Given the description of an element on the screen output the (x, y) to click on. 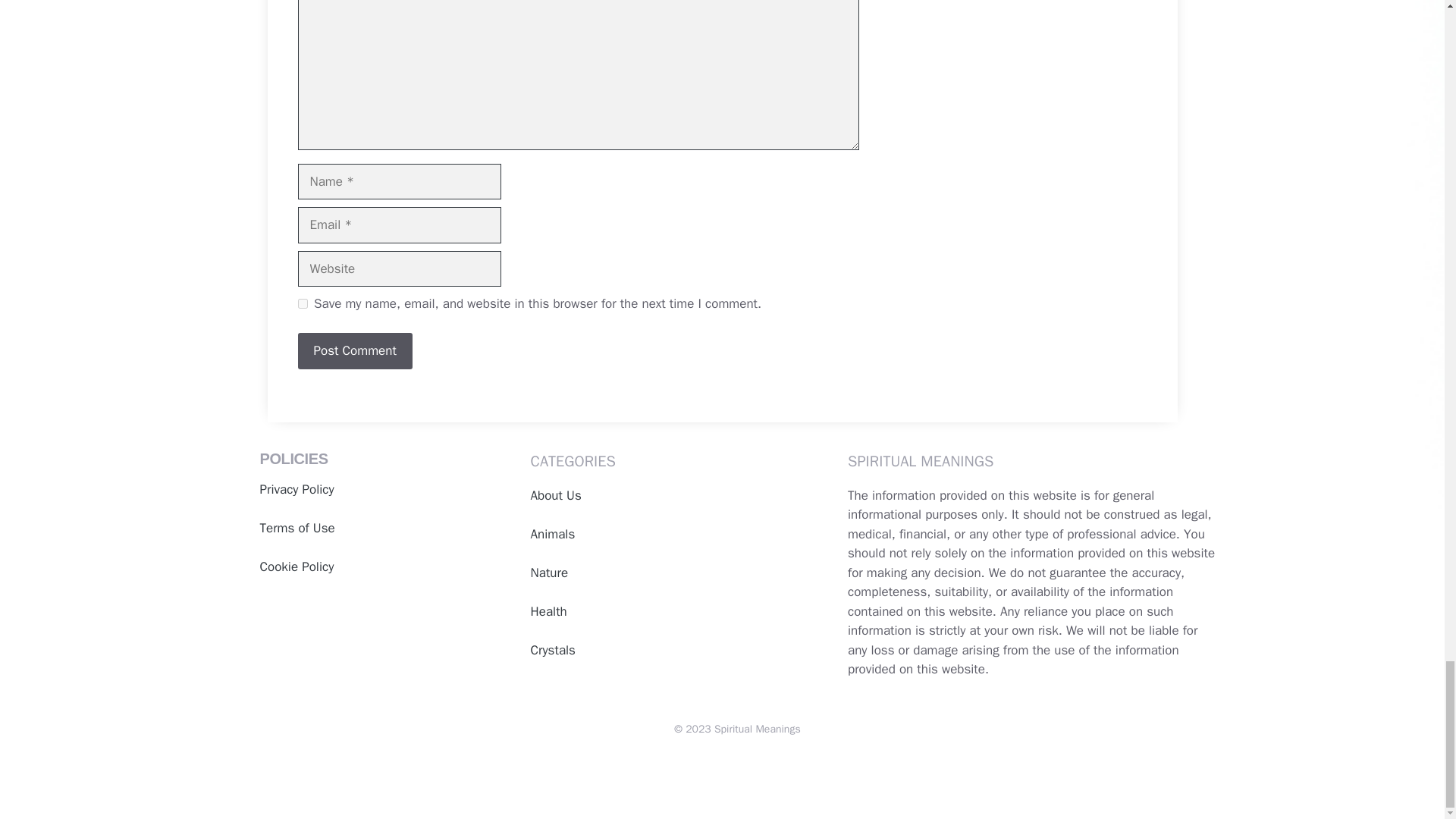
About Us (555, 495)
Post Comment (354, 350)
Post Comment (354, 350)
Cookie Policy (296, 566)
yes (302, 303)
Privacy Policy (296, 489)
Animals (553, 534)
Terms of Use (296, 528)
